Given the description of an element on the screen output the (x, y) to click on. 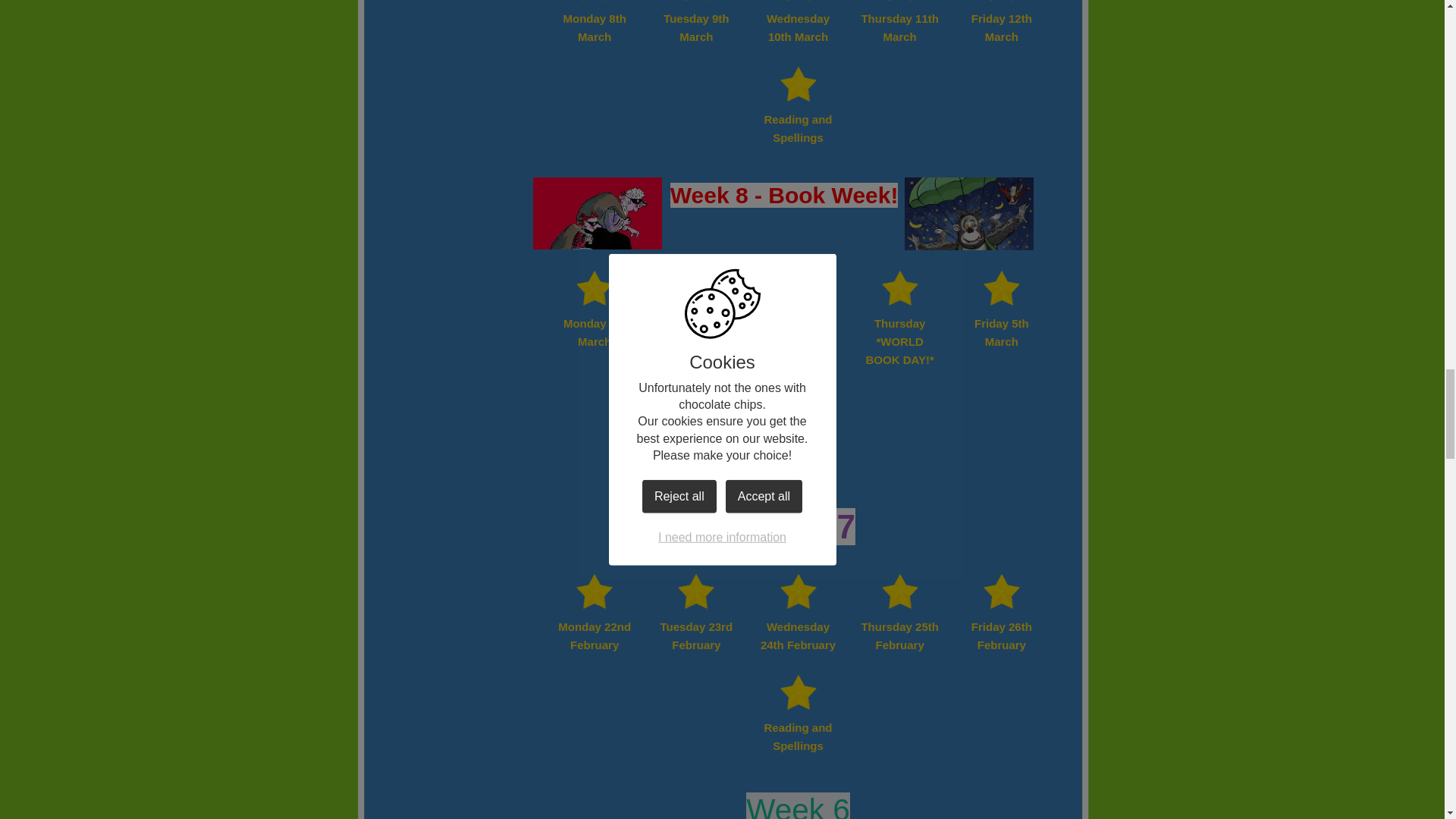
Monday 22nd February (594, 611)
Thursday 11th March (900, 22)
Wednesday 24th February (798, 611)
Wednesday 3rd March (798, 308)
Friday 26th February (1001, 611)
Thursday 25th February (900, 611)
Friday 12th March (1001, 22)
Friday 5th March (1001, 308)
Tuesday 2nd March (695, 308)
Reading and Spellings (798, 712)
